Given the description of an element on the screen output the (x, y) to click on. 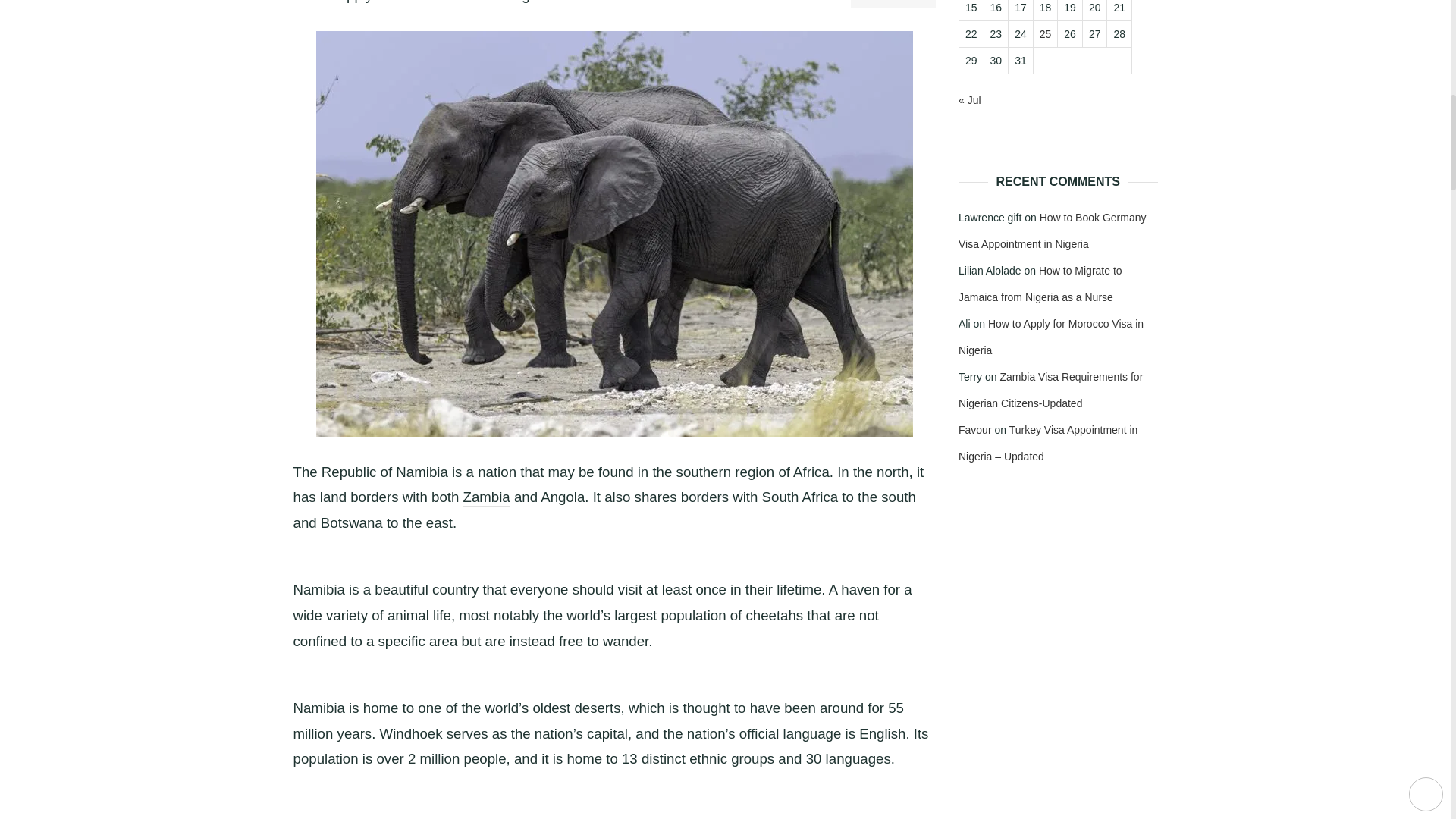
Zambia (487, 497)
Zambia Visa Requirements for Nigerian Citizens-Updated (487, 497)
Favour (974, 429)
How to Book Germany Visa Appointment in Nigeria (1051, 230)
How to Apply for Morocco Visa in Nigeria (1050, 336)
25 (1045, 33)
Zambia Visa Requirements for Nigerian Citizens-Updated (1050, 390)
How to Migrate to Jamaica from Nigeria as a Nurse (1040, 283)
